Given the description of an element on the screen output the (x, y) to click on. 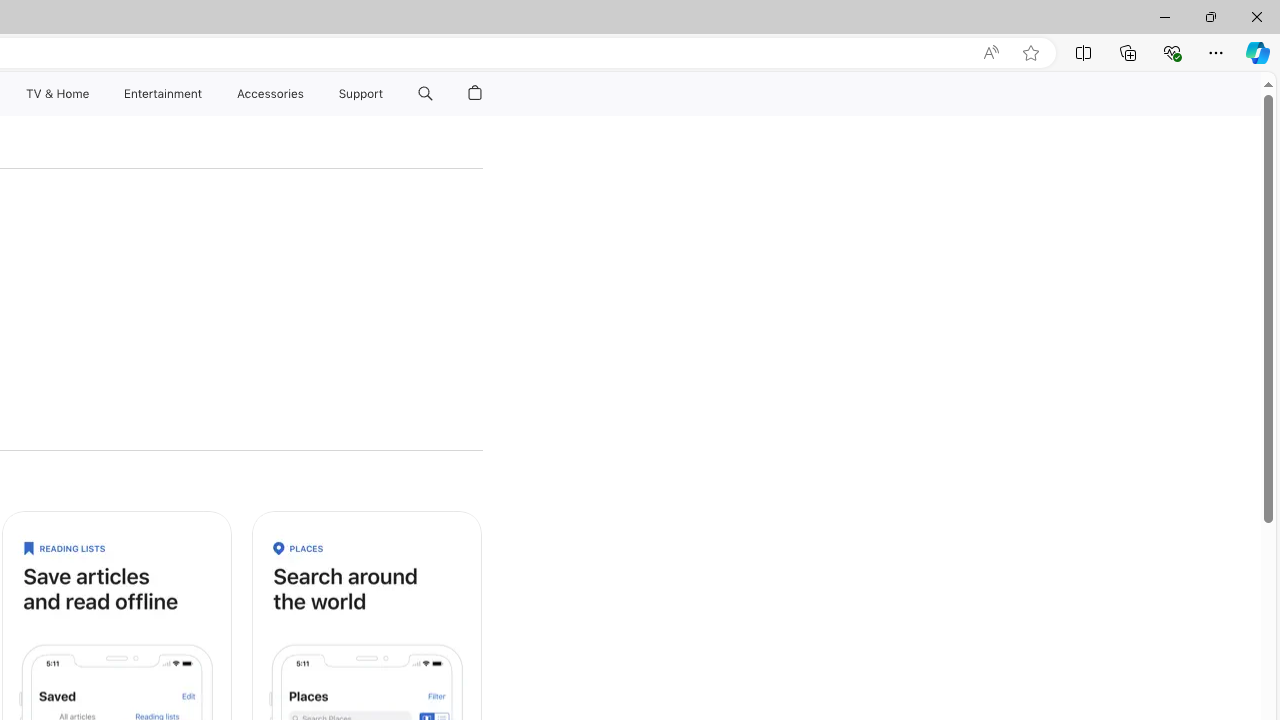
TV and Home (56, 93)
AutomationID: globalnav-bag (475, 93)
Shopping Bag (475, 93)
Accessories (269, 93)
Search apple.com (425, 93)
Support (361, 93)
